Given the description of an element on the screen output the (x, y) to click on. 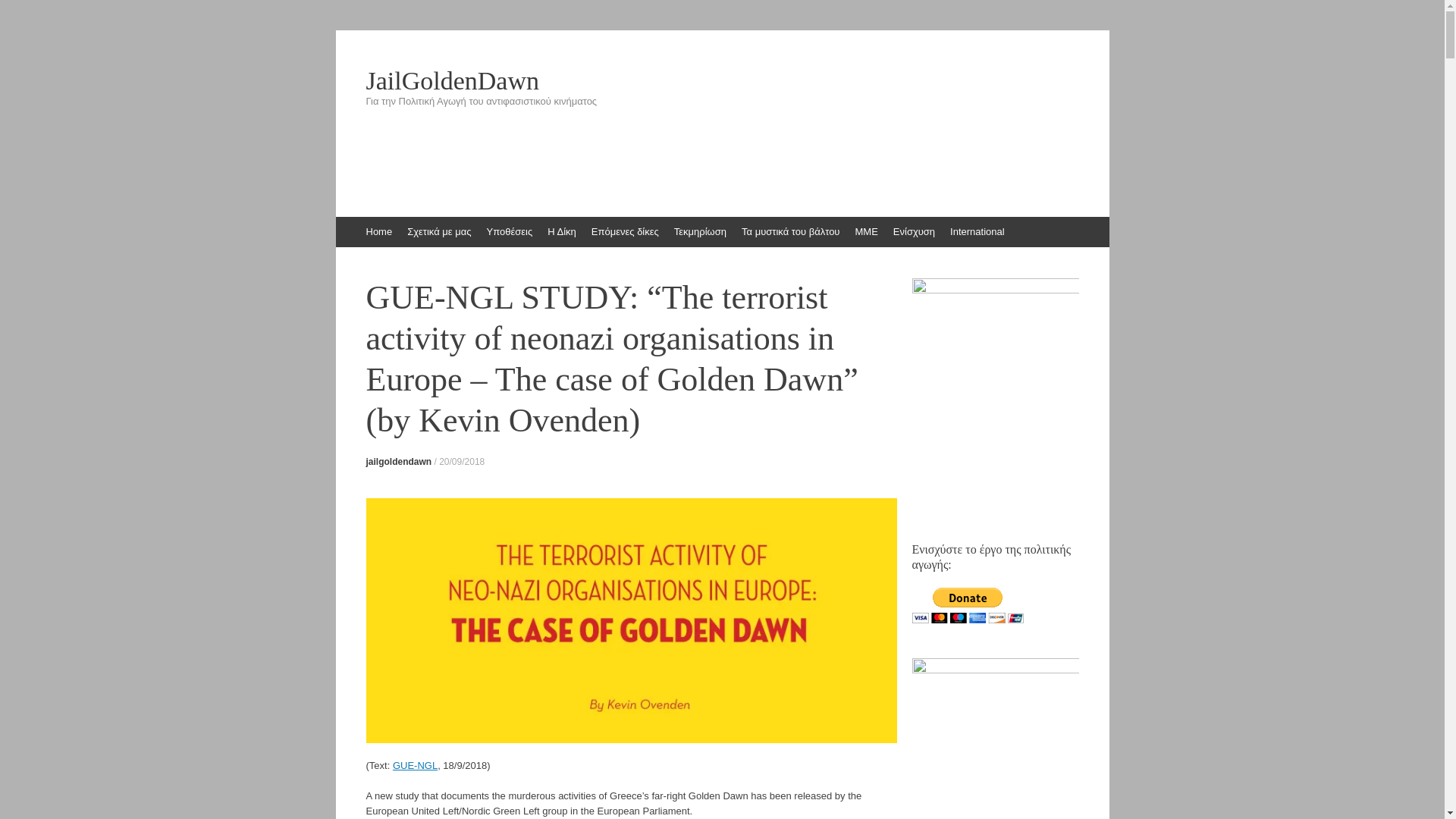
Home (378, 232)
JailGoldenDawn (721, 80)
Skip to content (342, 223)
jailgoldendawn (397, 461)
JailGoldenDawn (721, 80)
International (976, 232)
GUE-NGL (415, 765)
